Given the description of an element on the screen output the (x, y) to click on. 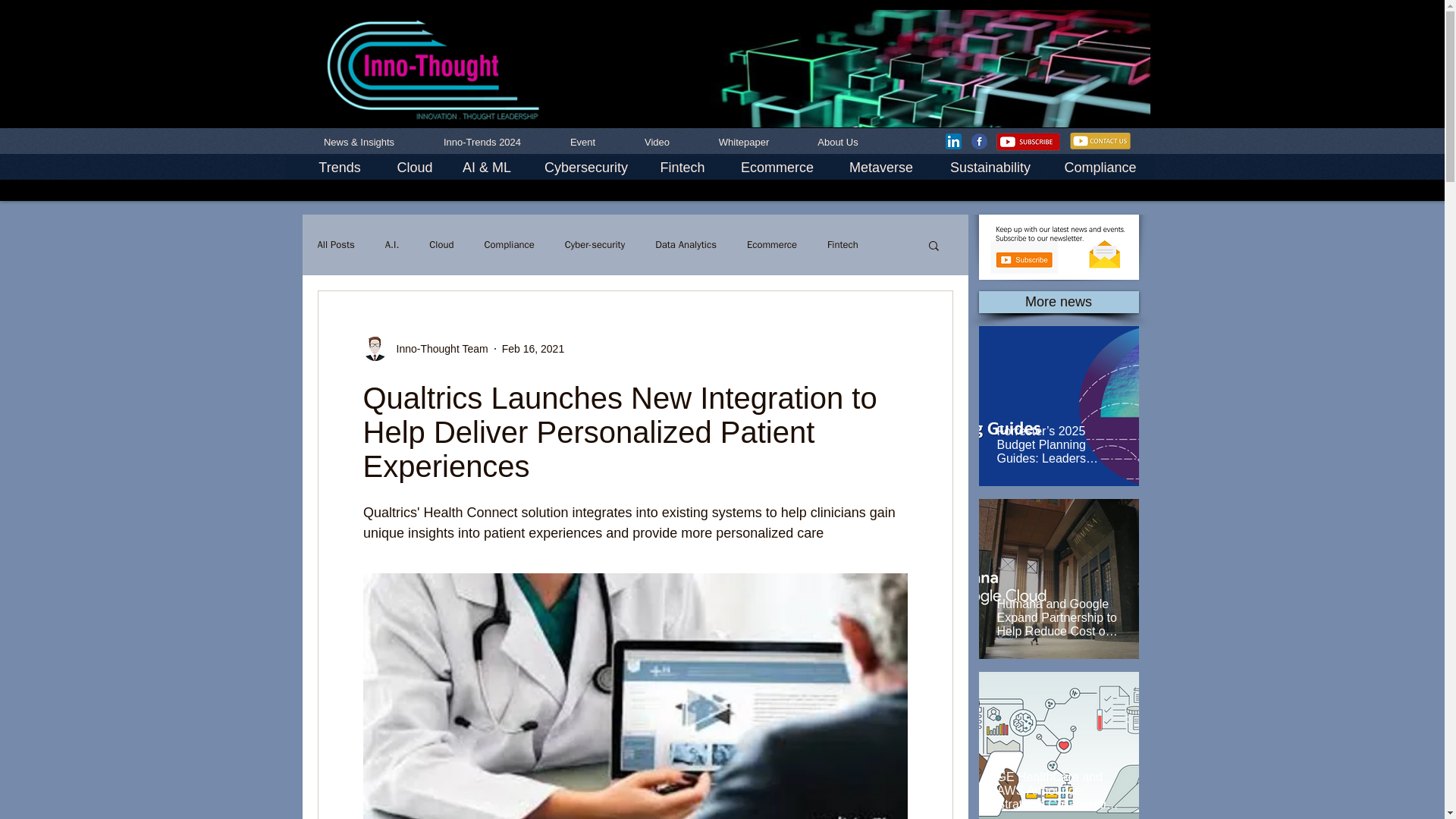
A.I. (391, 244)
Compliance (508, 244)
Inno-Thought Team (424, 348)
Cybersecurity (586, 167)
Inno-Thought Team (437, 349)
Trends (339, 167)
Video (657, 142)
Inno-Trends 2024 (481, 142)
Compliance (1100, 167)
Data Analytics (685, 244)
